Given the description of an element on the screen output the (x, y) to click on. 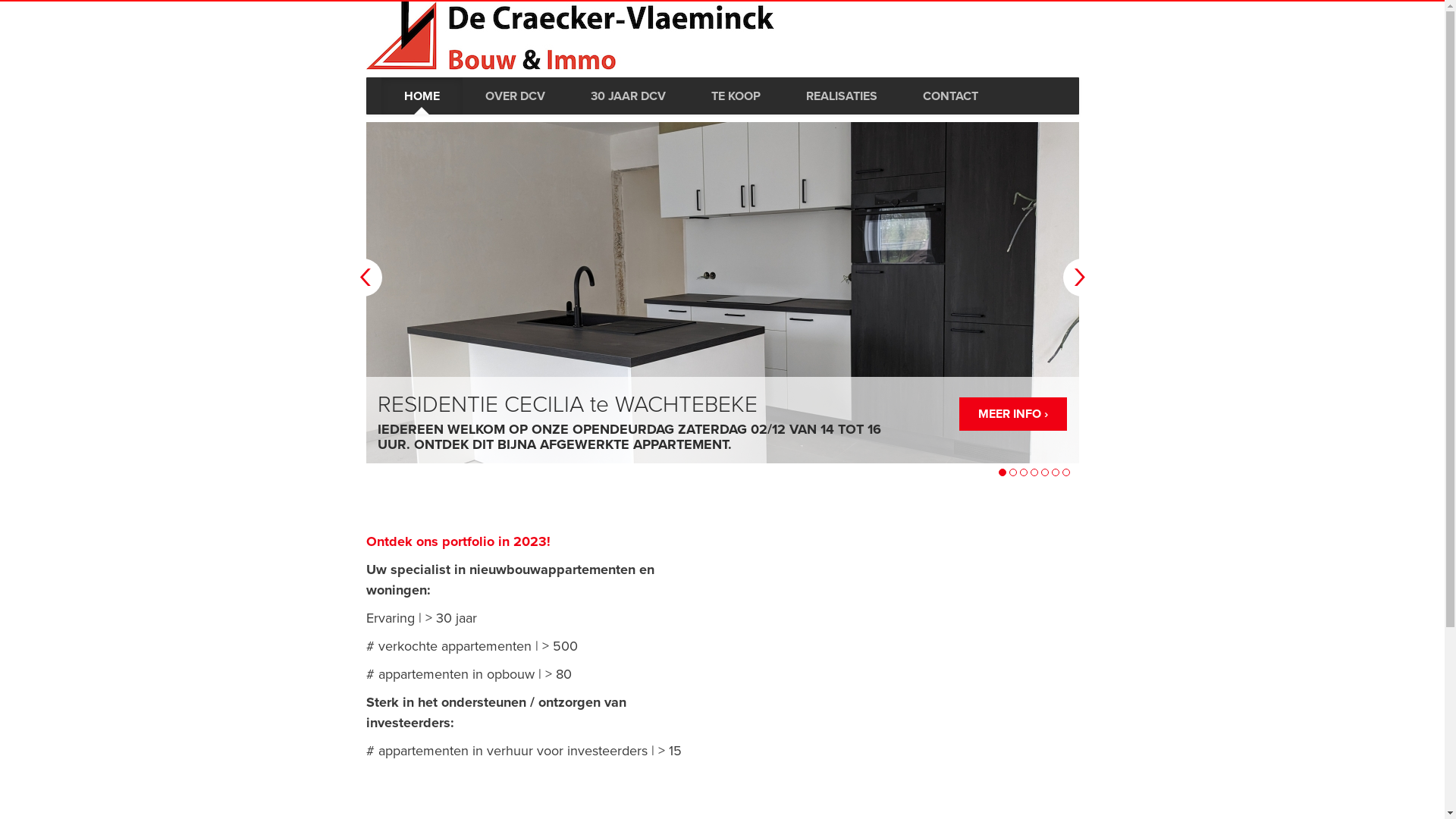
TE KOOP Element type: text (735, 95)
HOME Element type: text (420, 95)
30 JAAR DCV Element type: text (627, 95)
CONTACT Element type: text (949, 95)
OVER DCV Element type: text (514, 95)
DCV Laarne Element type: hover (569, 34)
Ontdek ons portfolio in 2023! Element type: text (457, 541)
REALISATIES Element type: text (840, 95)
